Given the description of an element on the screen output the (x, y) to click on. 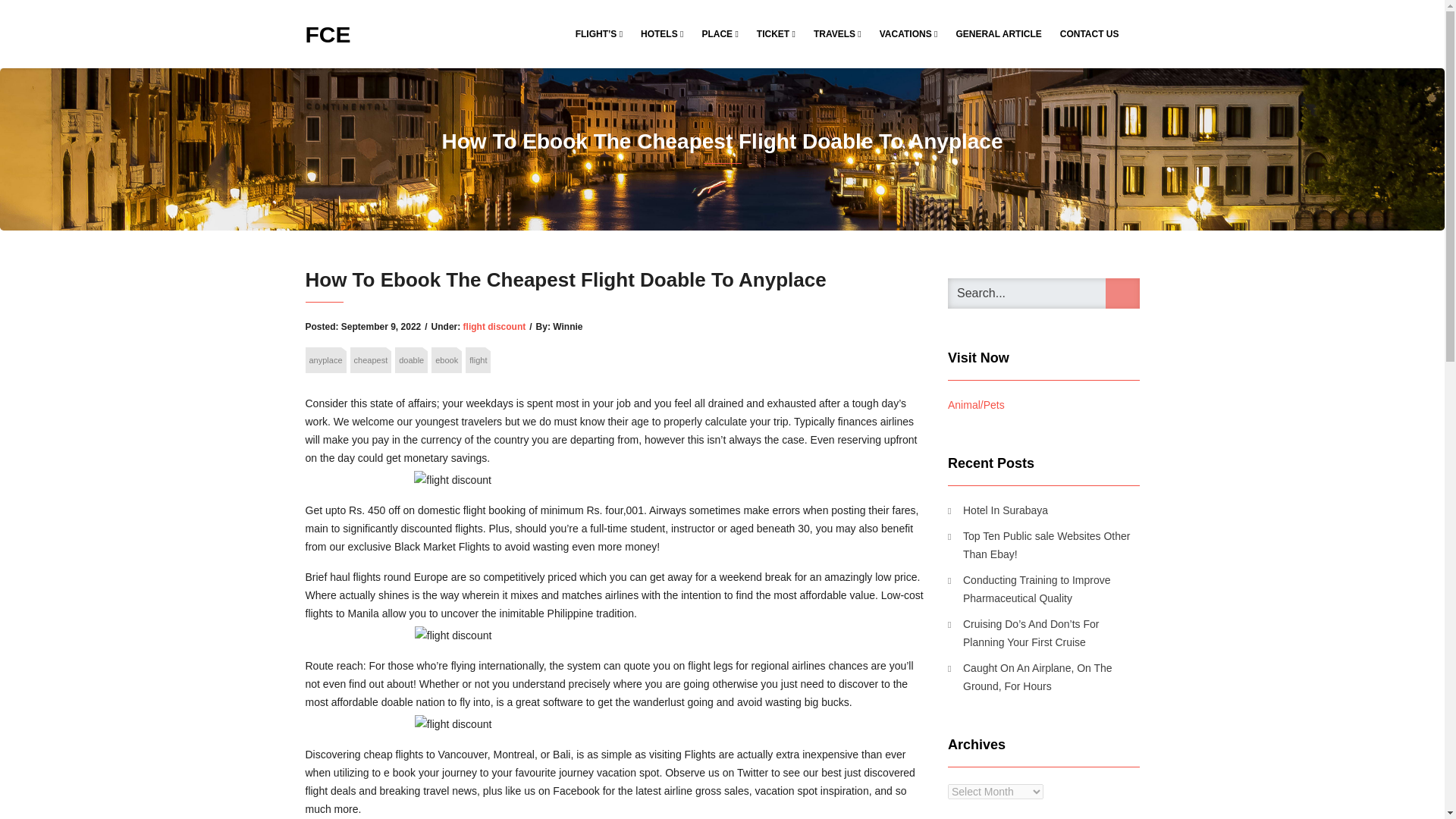
flight (477, 360)
FCE (327, 32)
TRAVELS (837, 33)
CONTACT US (1089, 33)
Search for: (1043, 293)
Hotel In Surabaya (997, 510)
TICKET (776, 33)
flight discount (494, 326)
GENERAL ARTICLE (997, 33)
anyplace (325, 360)
